Given the description of an element on the screen output the (x, y) to click on. 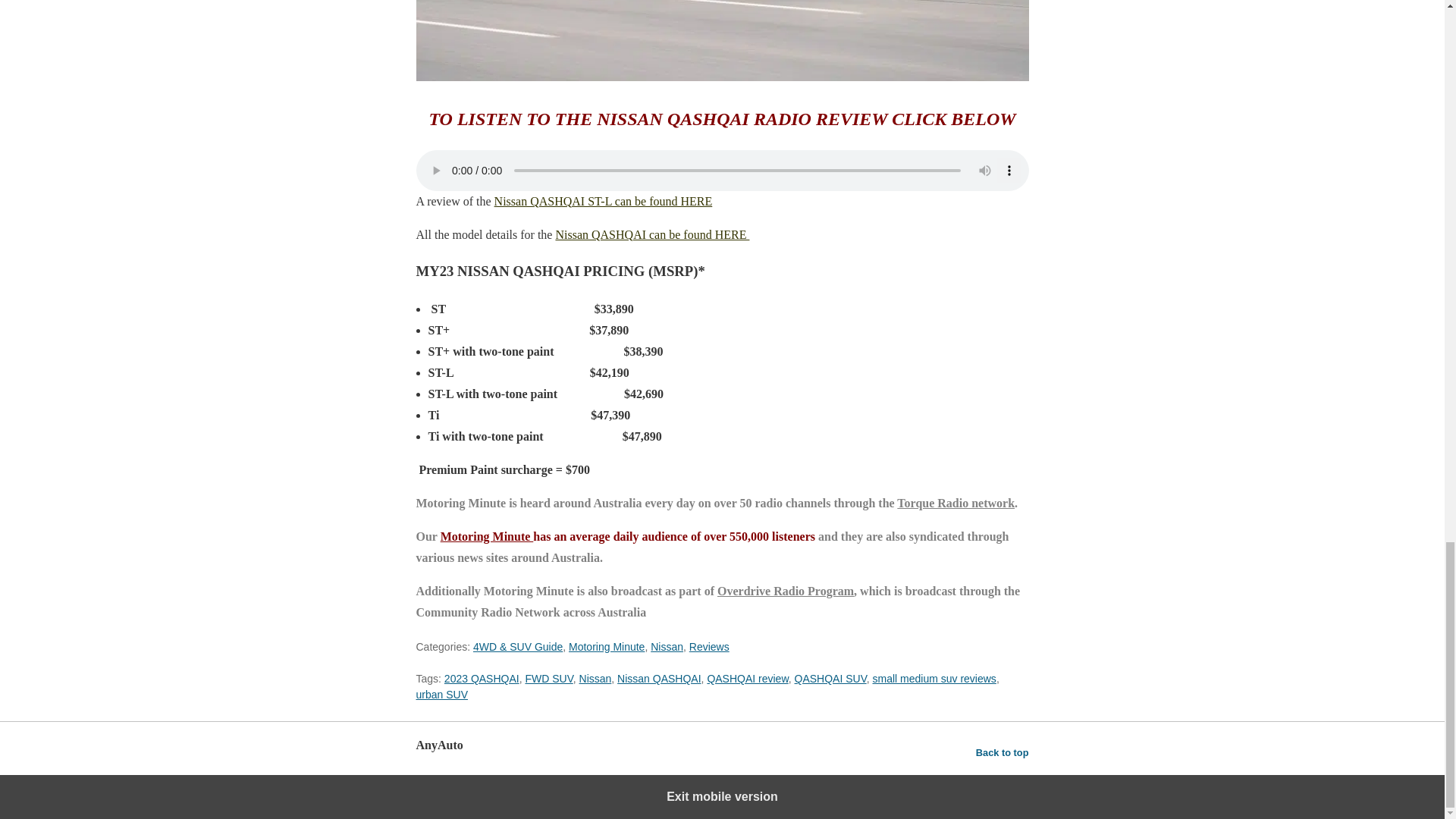
Motoring Minute (607, 646)
Nissan (666, 646)
Torque Radio network (955, 502)
Nissan (595, 678)
small medium suv reviews (933, 678)
2023 QASHQAI (481, 678)
QASHQAI SUV (830, 678)
Back to top (1002, 752)
Overdrive Radio Program (785, 590)
urban SUV (440, 694)
